Given the description of an element on the screen output the (x, y) to click on. 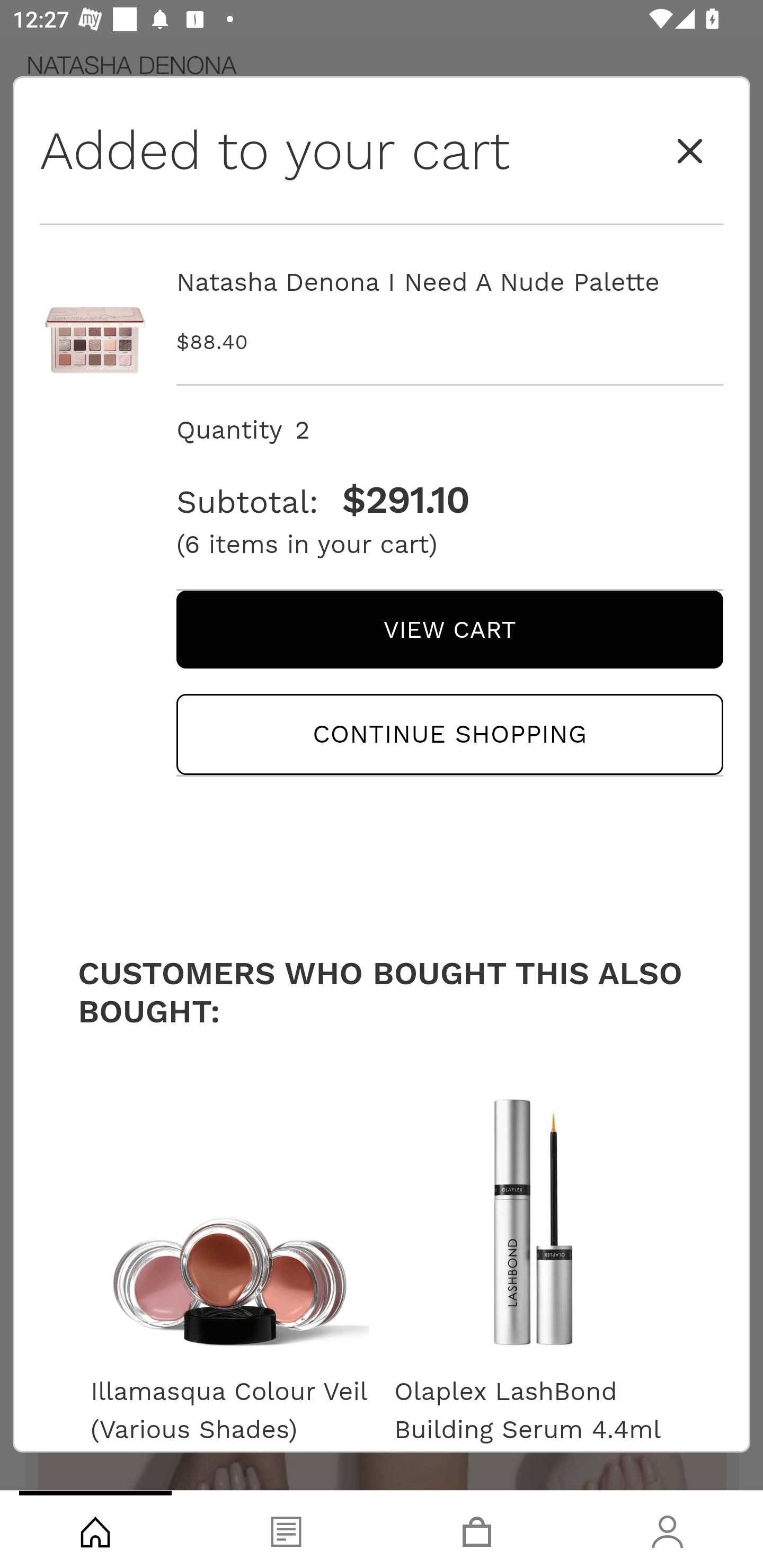
Close (689, 151)
Natasha Denona I Need A Nude Palette (95, 320)
Natasha Denona I Need A Nude Palette (449, 281)
VIEW CART (449, 629)
CONTINUE SHOPPING (449, 734)
Illamasqua Colour Veil (Various Shades) (229, 1214)
Olaplex LashBond Building Serum 4.4ml (533, 1214)
Illamasqua Colour Veil (Various Shades) (229, 1410)
Olaplex LashBond Building Serum 4.4ml (533, 1410)
Shop, tab, 1 of 4 (95, 1529)
Blog, tab, 2 of 4 (285, 1529)
Basket, tab, 3 of 4 (476, 1529)
Account, tab, 4 of 4 (667, 1529)
